Given the description of an element on the screen output the (x, y) to click on. 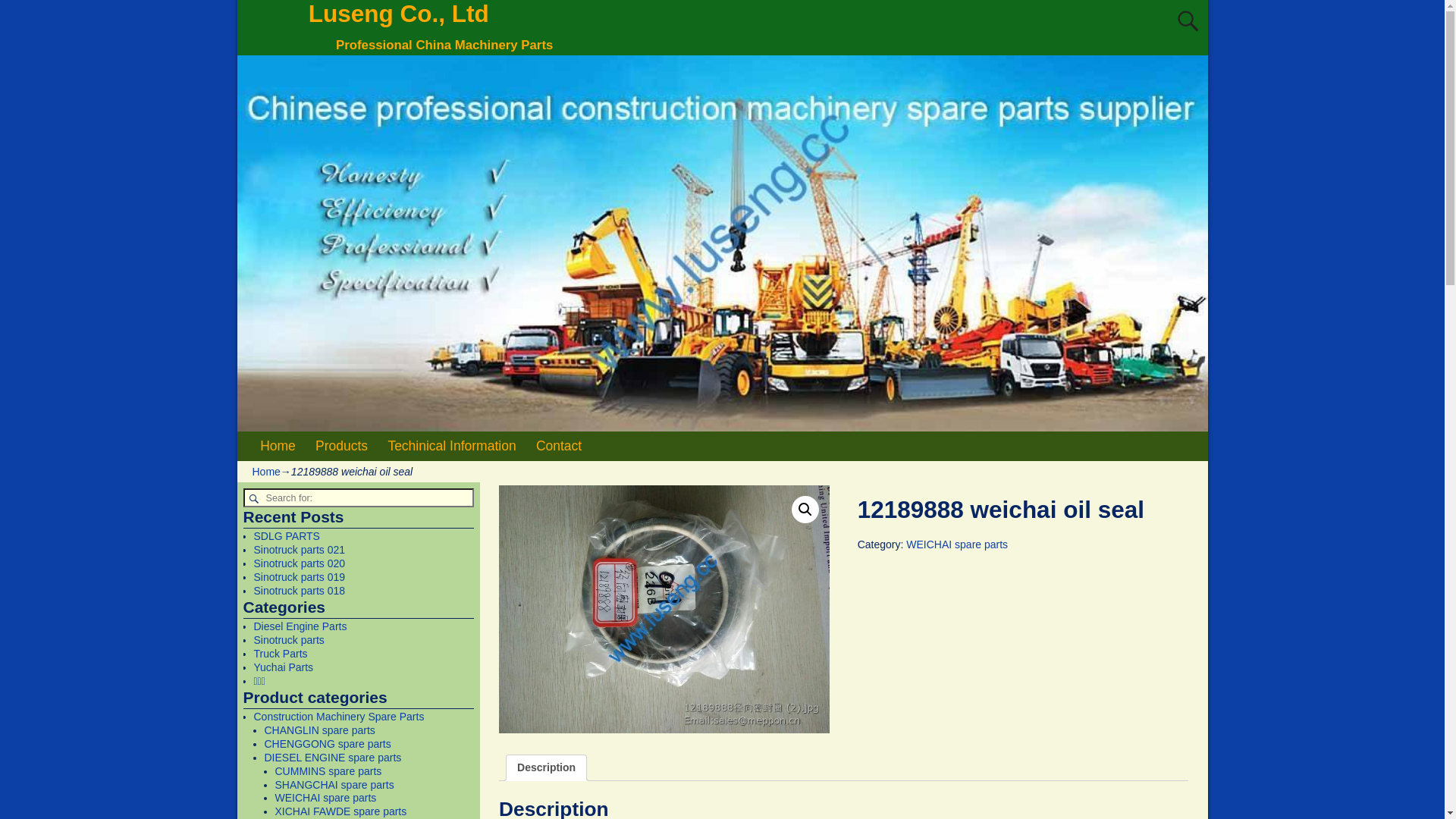
Sinotruck parts Element type: text (288, 639)
Sinotruck parts 019 Element type: text (299, 577)
XICHAI FAWDE spare parts Element type: text (340, 811)
Techinical Information Element type: text (451, 446)
CUMMINS spare parts Element type: text (327, 771)
Home Element type: text (277, 446)
Diesel Engine Parts Element type: text (299, 626)
Products Element type: text (341, 446)
Sinotruck parts 018 Element type: text (299, 590)
DIESEL ENGINE spare parts Element type: text (332, 757)
Contact Element type: text (559, 446)
Construction Machinery Spare Parts Element type: text (338, 716)
WEICHAI spare parts Element type: text (956, 544)
WEICHAI spare parts Element type: text (325, 797)
Sinotruck parts 020 Element type: text (299, 563)
CHENGGONG spare parts Element type: text (326, 743)
Luseng Co., Ltd Element type: text (398, 13)
Truck Parts Element type: text (280, 653)
SHANGCHAI spare parts Element type: text (333, 784)
Sinotruck parts 021 Element type: text (299, 549)
Description Element type: text (546, 767)
Yuchai Parts Element type: text (283, 667)
SDLG PARTS Element type: text (286, 536)
Home Element type: text (265, 471)
CHANGLIN spare parts Element type: text (318, 730)
